Given the description of an element on the screen output the (x, y) to click on. 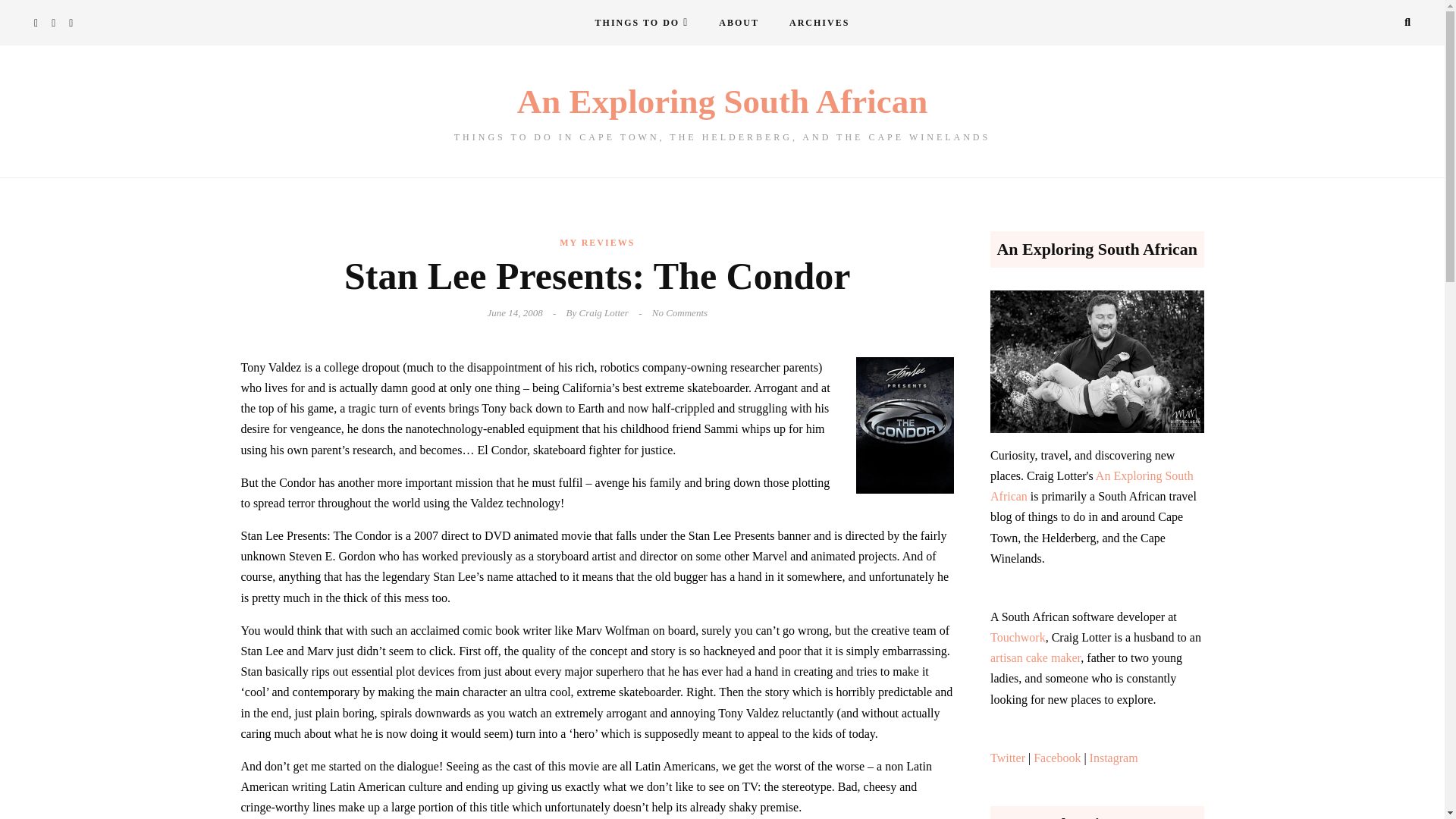
THINGS TO DO (641, 22)
An Exploring South Africa and Craig Lotter (738, 22)
Craig Lotter carrying his little girl Jessica (1097, 361)
